Given the description of an element on the screen output the (x, y) to click on. 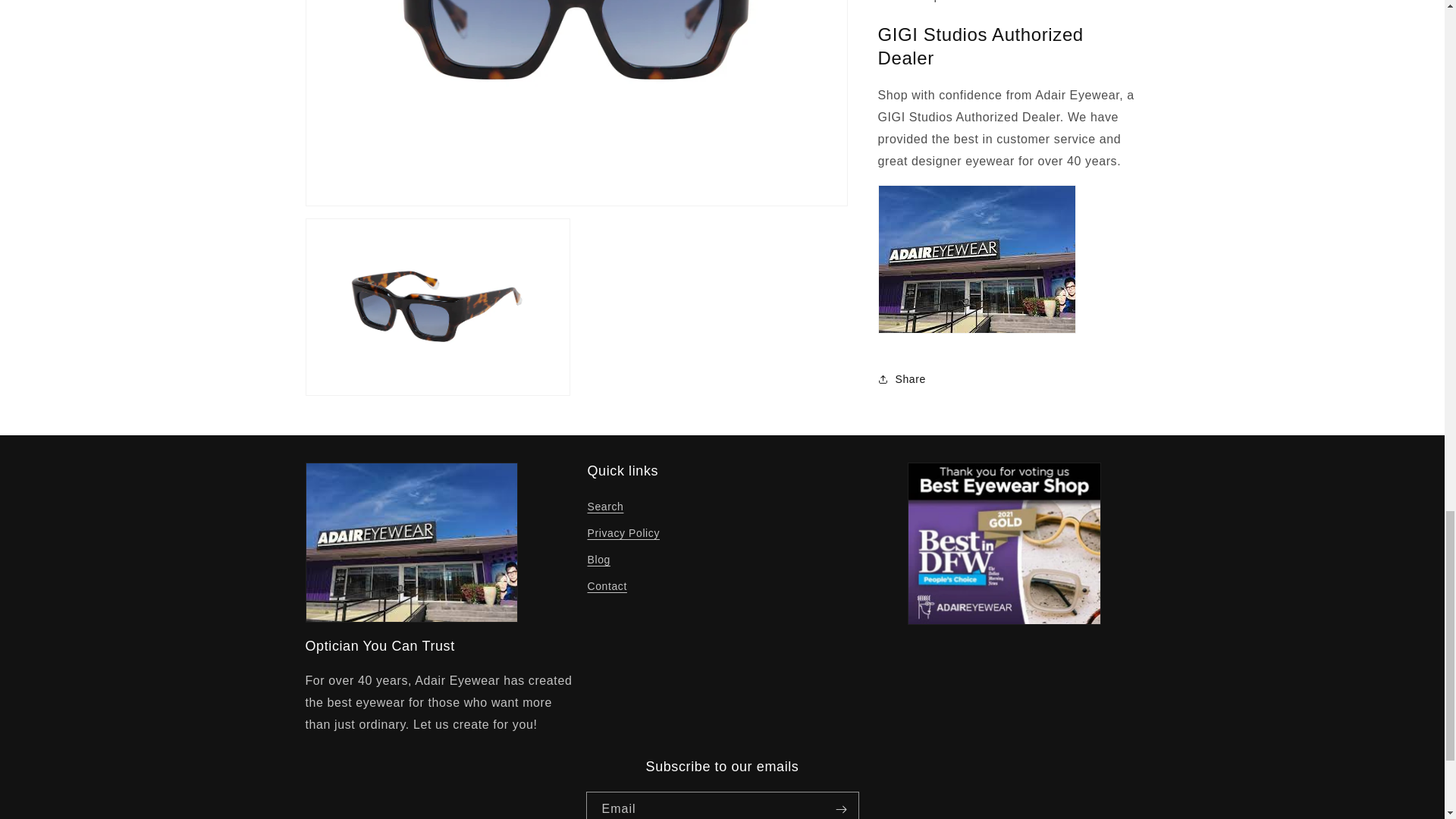
Contact (606, 586)
Blog (598, 560)
Search (604, 508)
Privacy Policy (622, 533)
